Given the description of an element on the screen output the (x, y) to click on. 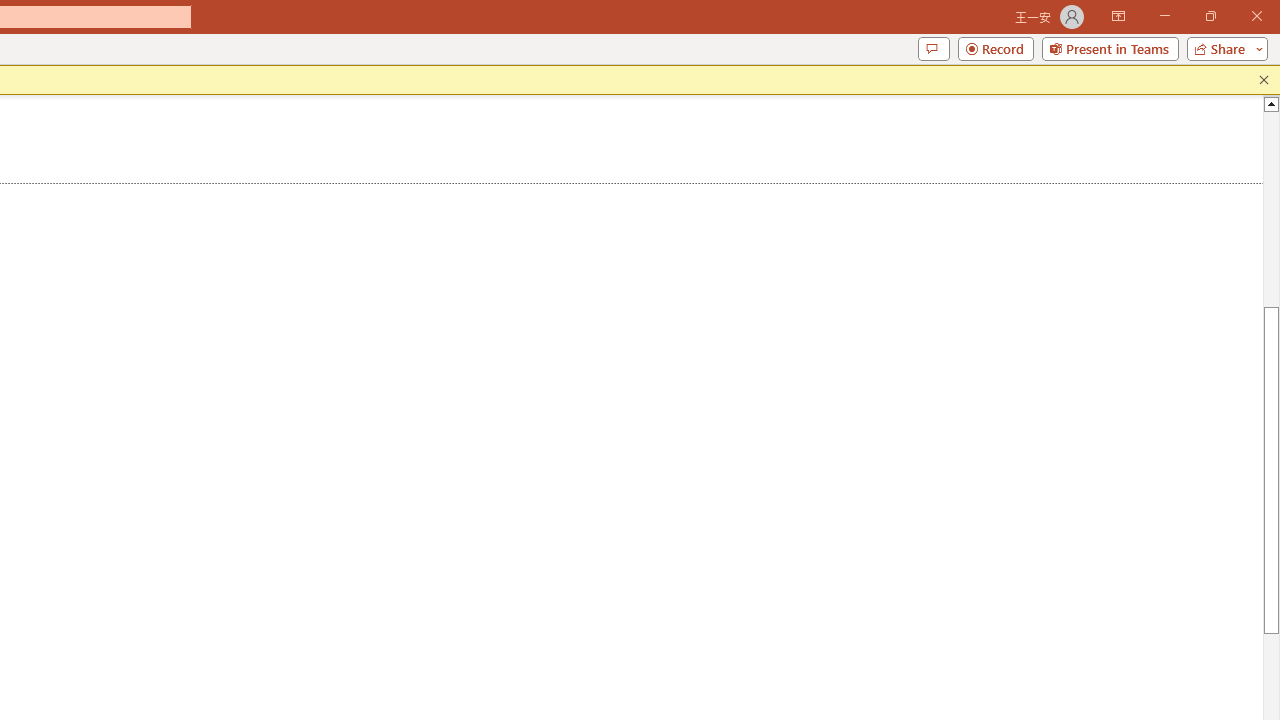
Asian Typography (111, 343)
RichEdit Control (235, 582)
Heading 1 (267, 160)
Row Down (523, 162)
Replace... (617, 161)
Heading 2 (429, 160)
Collapsed by default (97, 450)
Mode (1083, 84)
By: (248, 582)
